Given the description of an element on the screen output the (x, y) to click on. 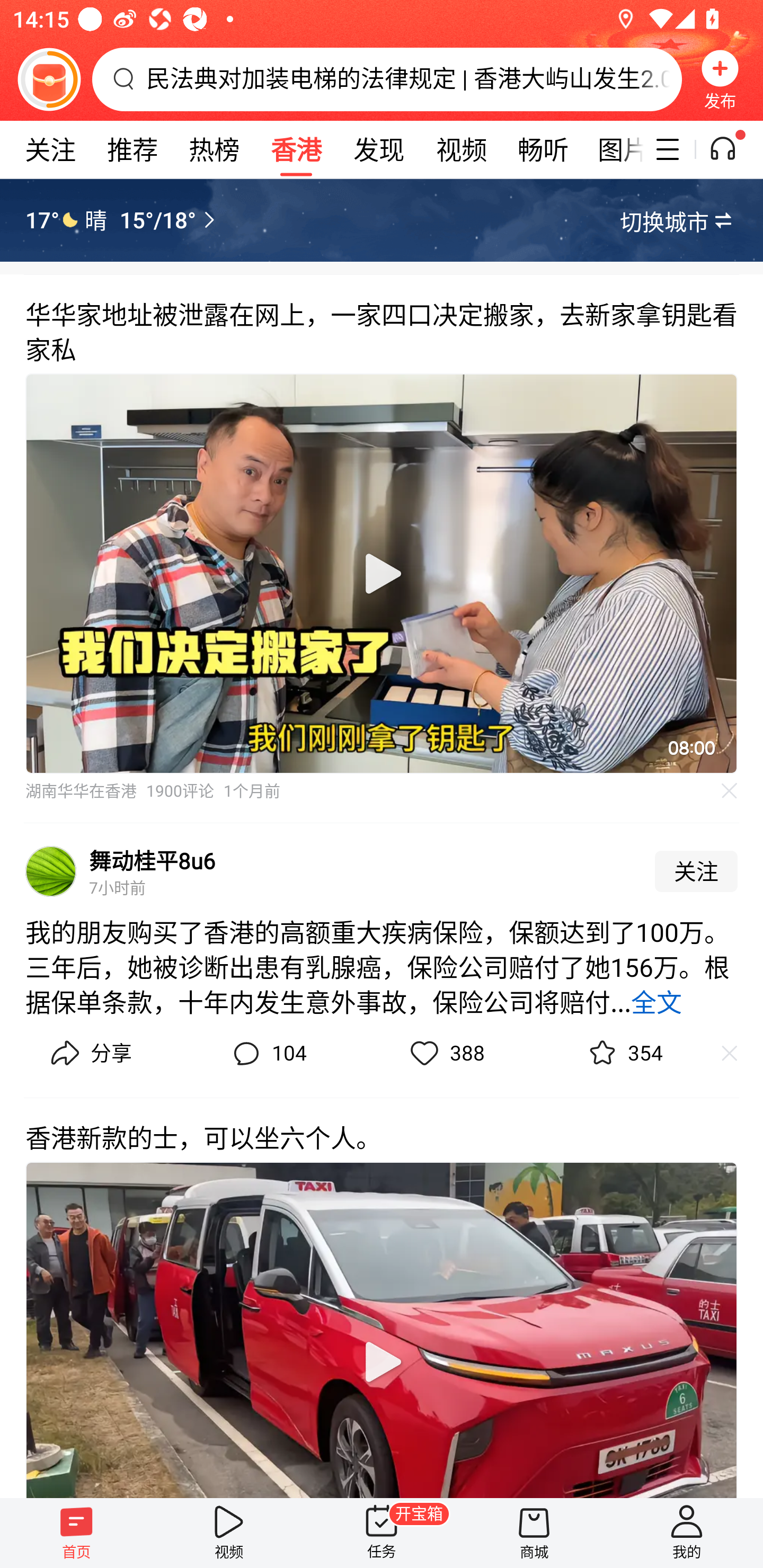
阅读赚金币 (48, 79)
发布 发布，按钮 (720, 78)
关注 (50, 149)
推荐 (132, 149)
热榜 (213, 149)
香港 (295, 149)
发现 (378, 149)
视频 (461, 149)
畅听 (542, 149)
图片 (613, 149)
听一听开关 (732, 149)
播放视频 视频播放器，双击屏幕打开播放控制 (381, 573)
播放视频 (381, 573)
不感兴趣 (729, 790)
舞动桂平8u6头像 舞动桂平8u6,,,,7小时前 舞动桂平8u6 7小时前 关注 关注 (381, 865)
舞动桂平8u6 (152, 859)
舞动桂平8u6头像 (50, 871)
关注 (695, 871)
分享 (88, 1053)
评论,104 104 (266, 1053)
收藏,354 354 (622, 1053)
减少此类内容推荐 (737, 1053)
香港新款的士，可以坐六个人。 播放视频 视频播放器，双击屏幕打开播放控制 (381, 1297)
播放视频 视频播放器，双击屏幕打开播放控制 (381, 1329)
播放视频 (381, 1361)
首页 (76, 1532)
视频 (228, 1532)
任务 开宝箱 (381, 1532)
商城 (533, 1532)
我的 (686, 1532)
